Given the description of an element on the screen output the (x, y) to click on. 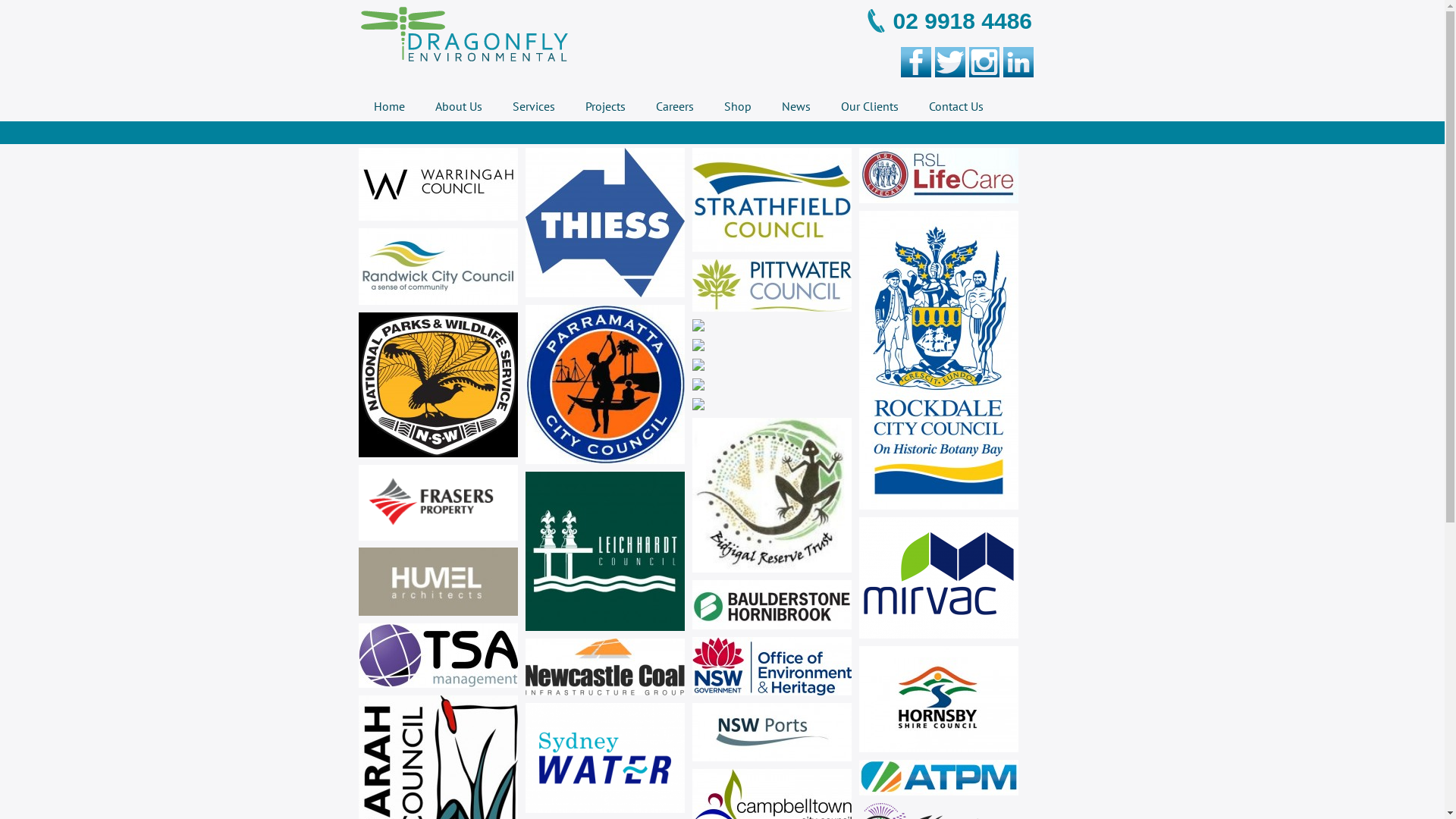
Contact Us Element type: text (955, 106)
Projects Element type: text (605, 106)
News Element type: text (795, 106)
About Us Element type: text (458, 106)
Careers Element type: text (674, 106)
Shop Element type: text (736, 106)
Our Clients Element type: text (869, 106)
Home Element type: text (388, 106)
Services Element type: text (533, 106)
